Given the description of an element on the screen output the (x, y) to click on. 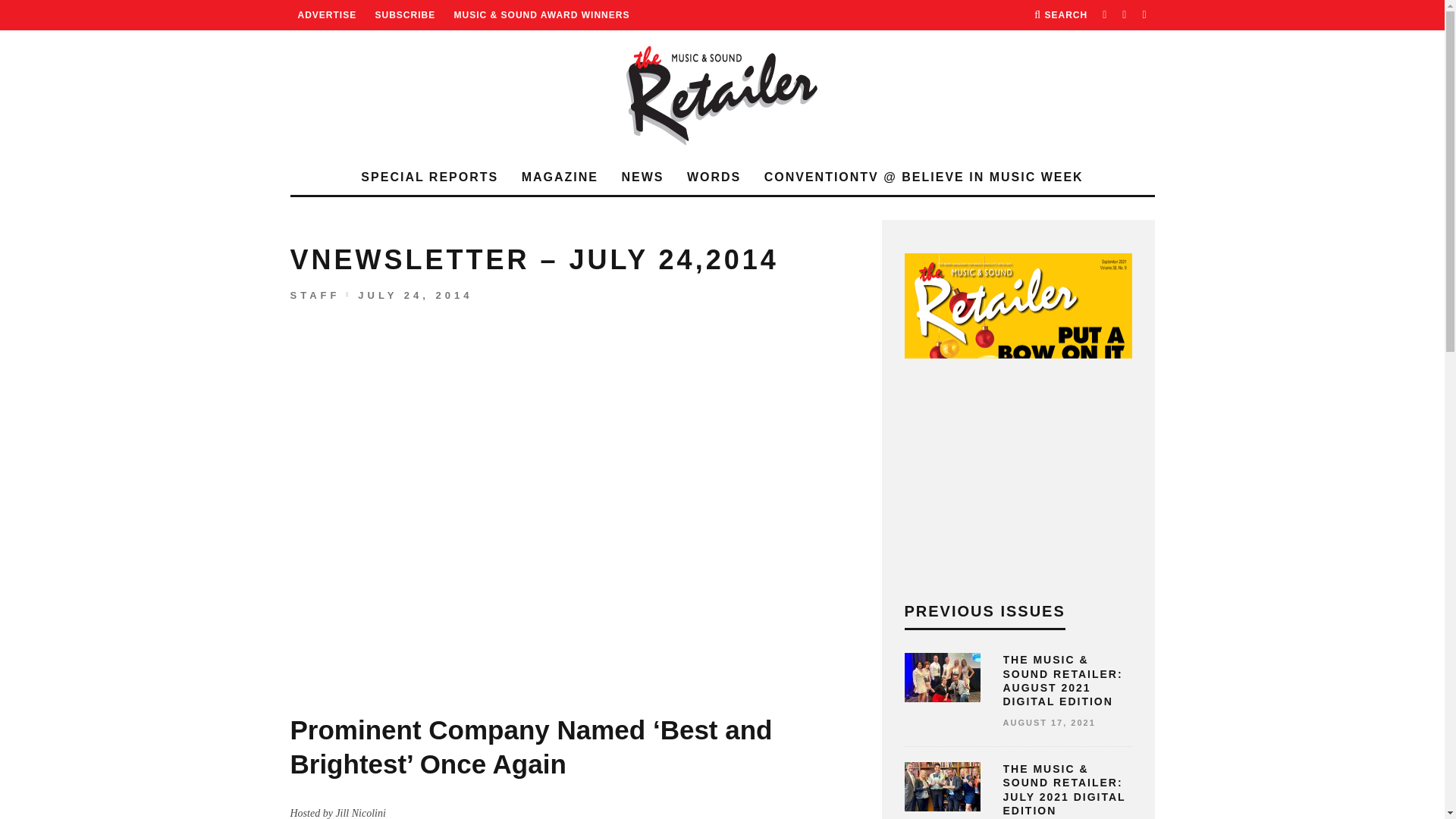
ADVERTISE (326, 15)
SUBSCRIBE (405, 15)
MAGAZINE (559, 177)
Search (1060, 15)
Log In (721, 435)
SEARCH (1060, 15)
SPECIAL REPORTS (429, 177)
